Given the description of an element on the screen output the (x, y) to click on. 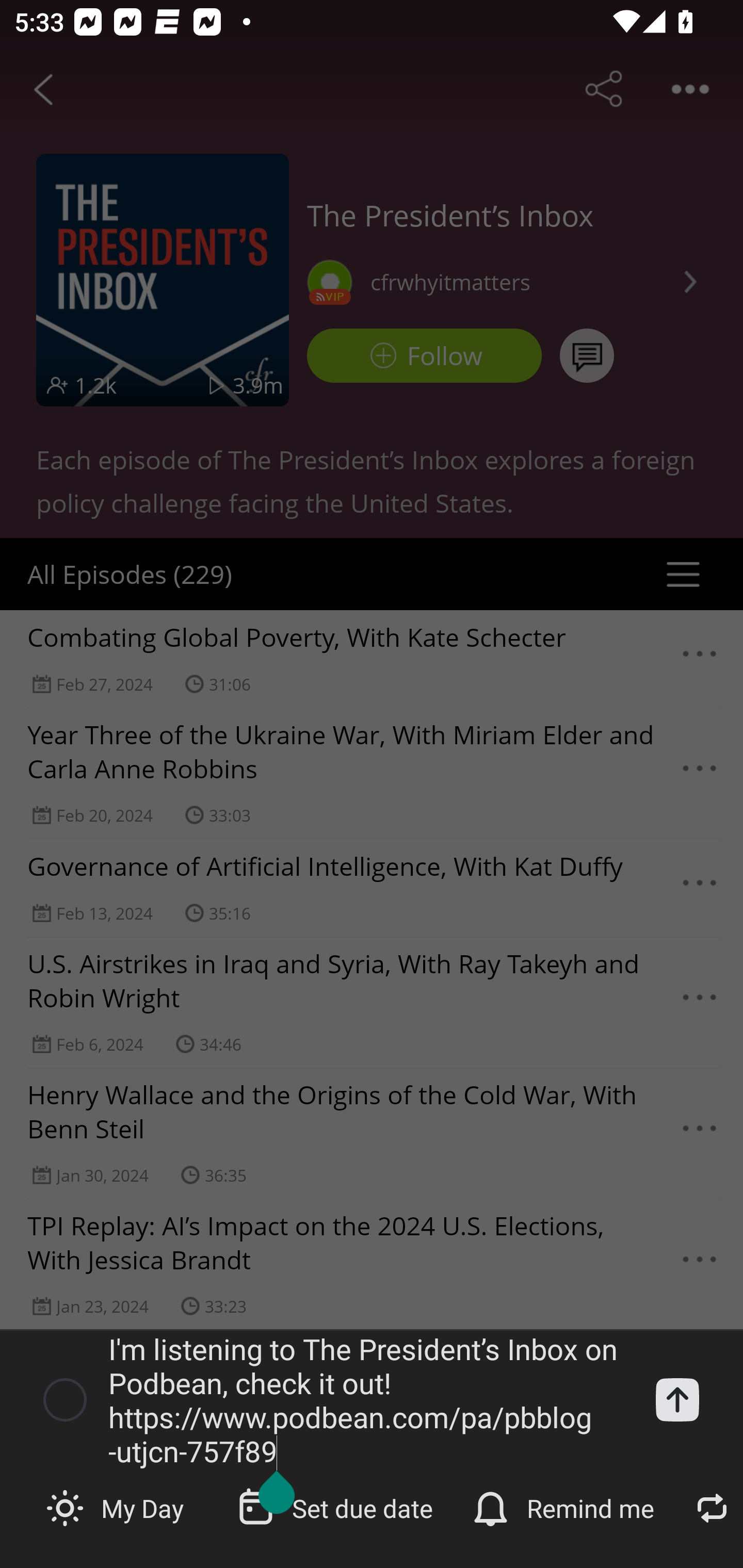
Add a task (676, 1399)
My Day (116, 1507)
Set due date (337, 1507)
Remind me (565, 1507)
